Given the description of an element on the screen output the (x, y) to click on. 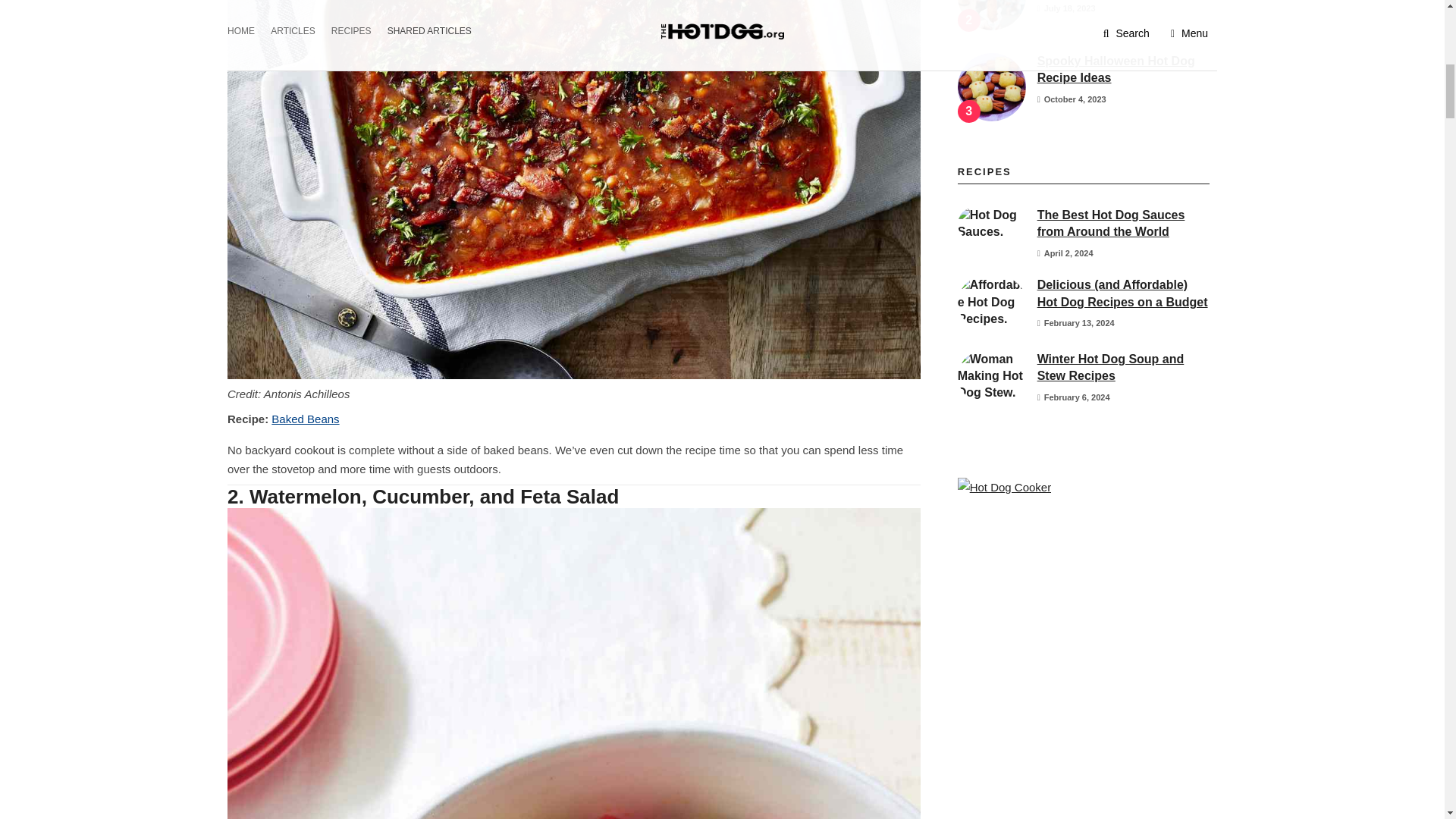
Baked Beans (304, 418)
